Given the description of an element on the screen output the (x, y) to click on. 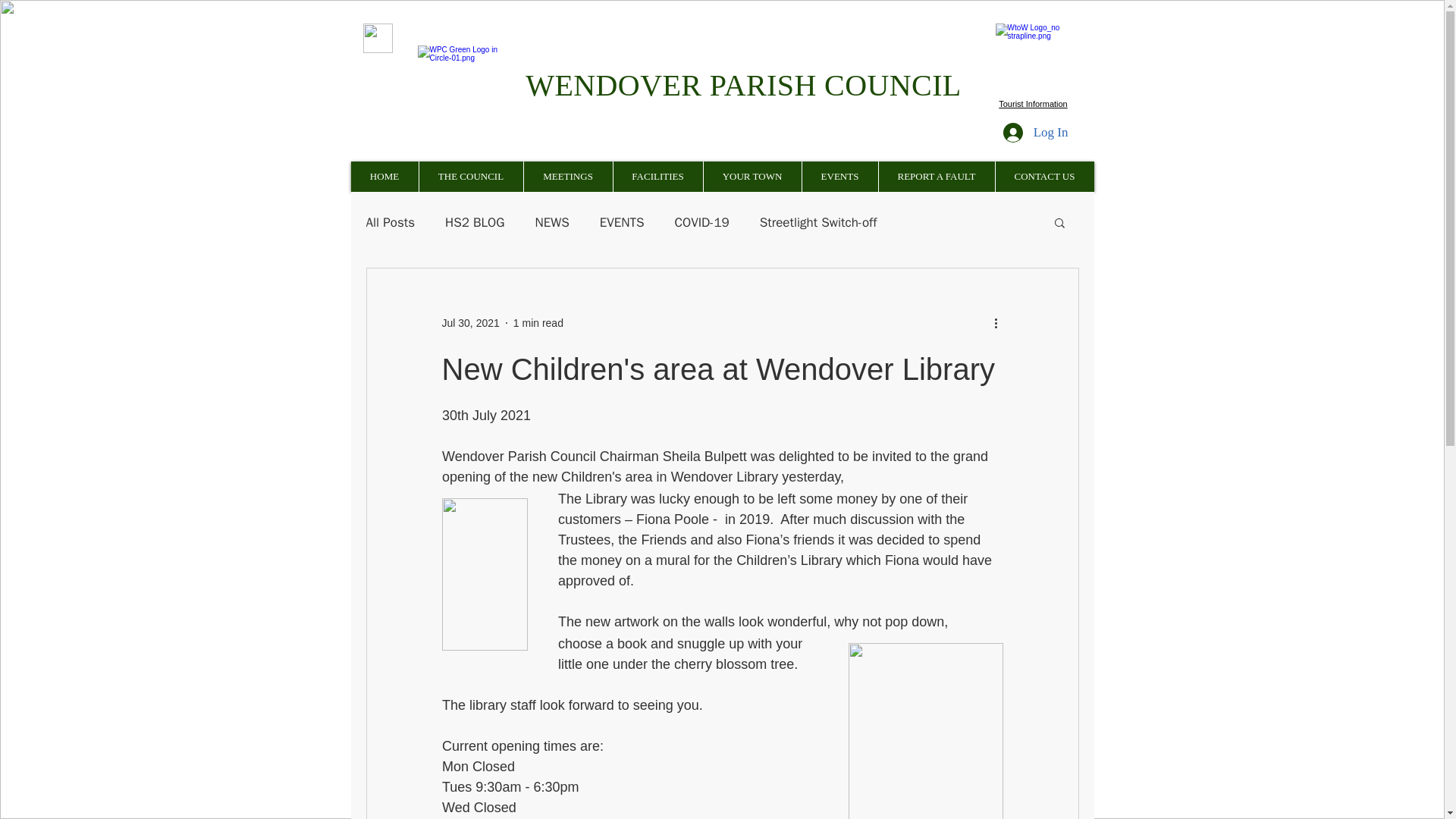
REPORT A FAULT (935, 176)
CONTACT US (1044, 176)
Tourist Information (1032, 103)
Log In (1035, 132)
HOME (383, 176)
1 min read (538, 322)
Jul 30, 2021 (470, 322)
